Given the description of an element on the screen output the (x, y) to click on. 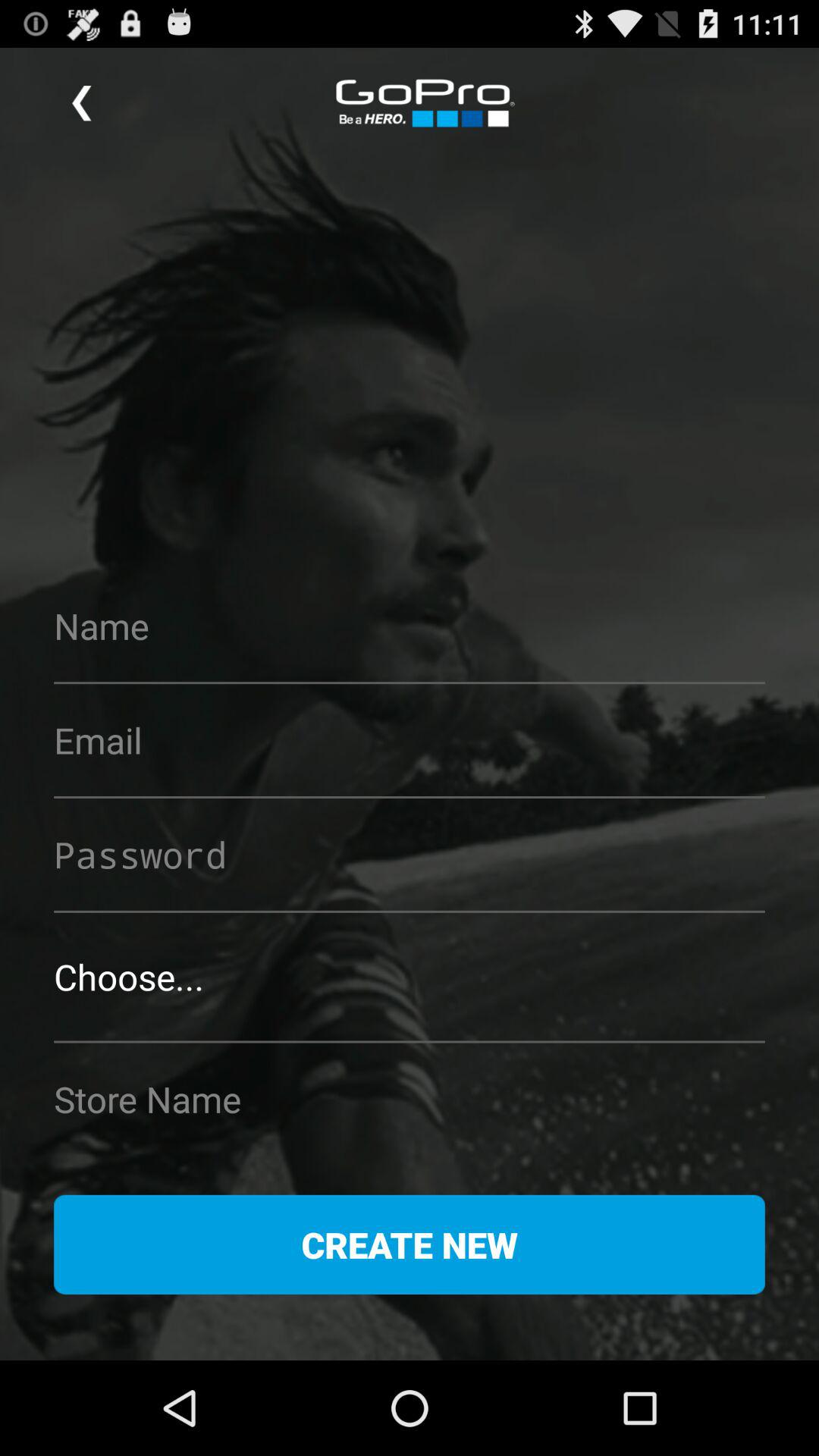
type name (409, 625)
